Given the description of an element on the screen output the (x, y) to click on. 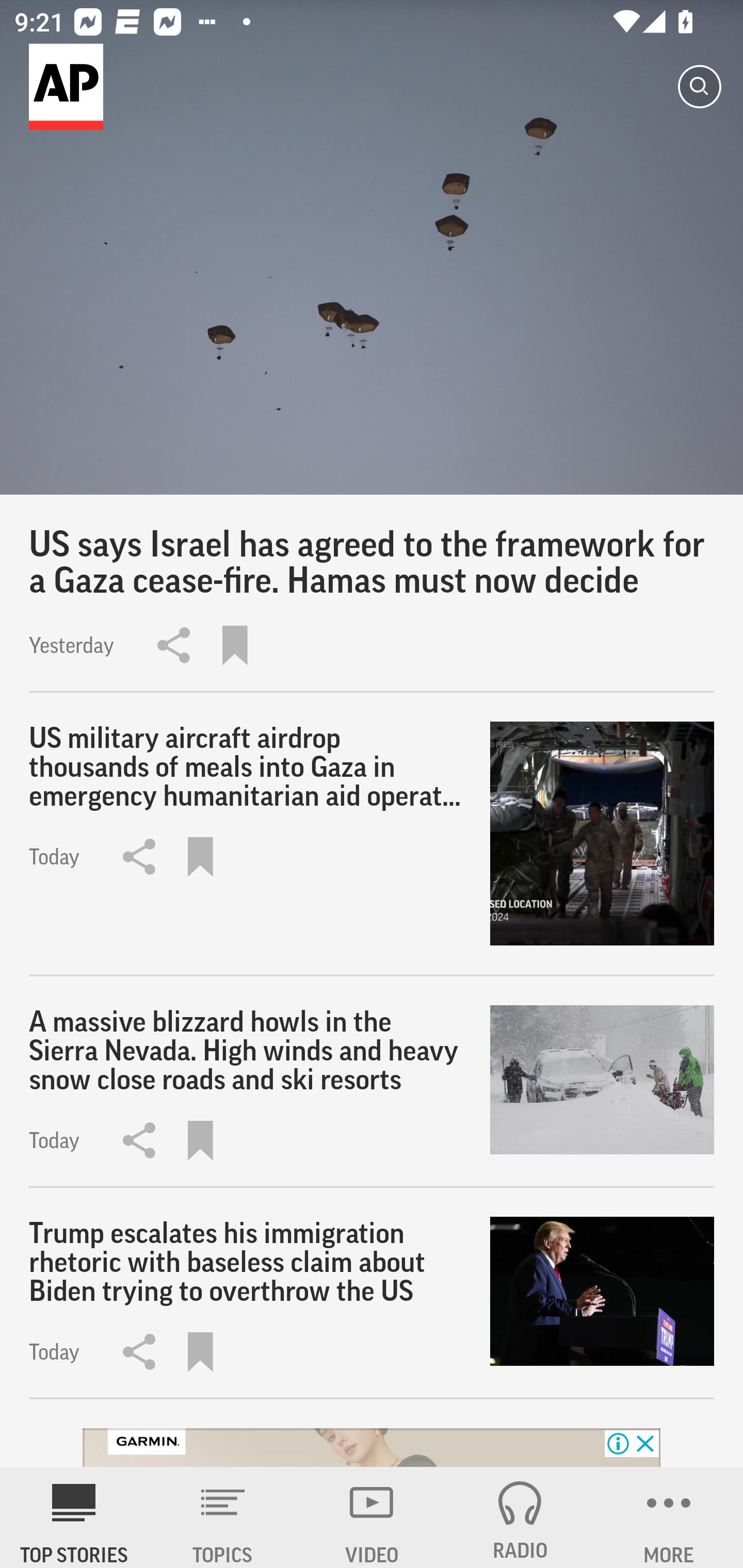
AP News TOP STORIES (74, 1517)
TOPICS (222, 1517)
VIDEO (371, 1517)
RADIO (519, 1517)
MORE (668, 1517)
